Given the description of an element on the screen output the (x, y) to click on. 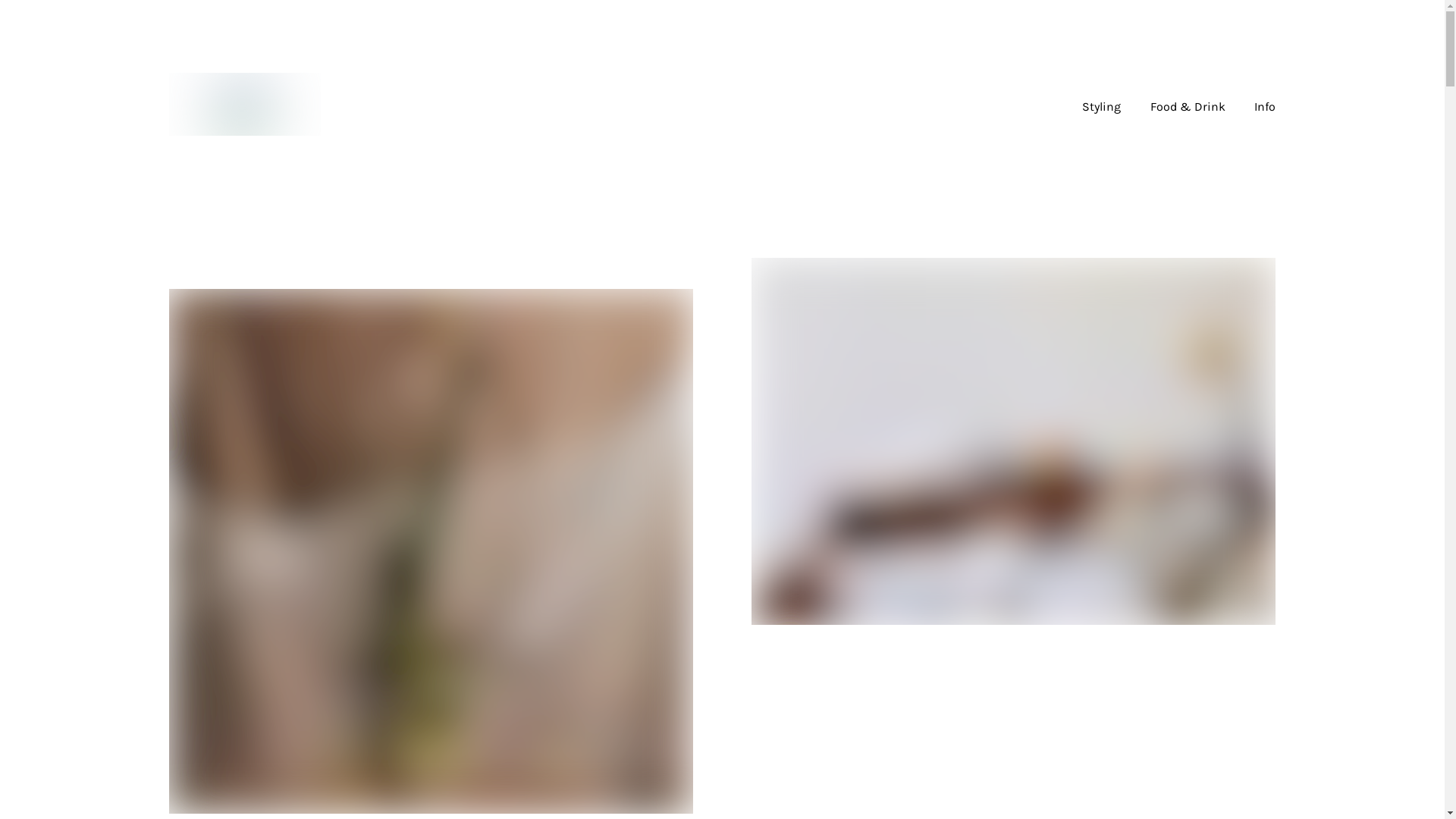
Info Element type: text (1264, 106)
Styling Element type: text (1101, 106)
Food & Drink Element type: text (1187, 106)
